Given the description of an element on the screen output the (x, y) to click on. 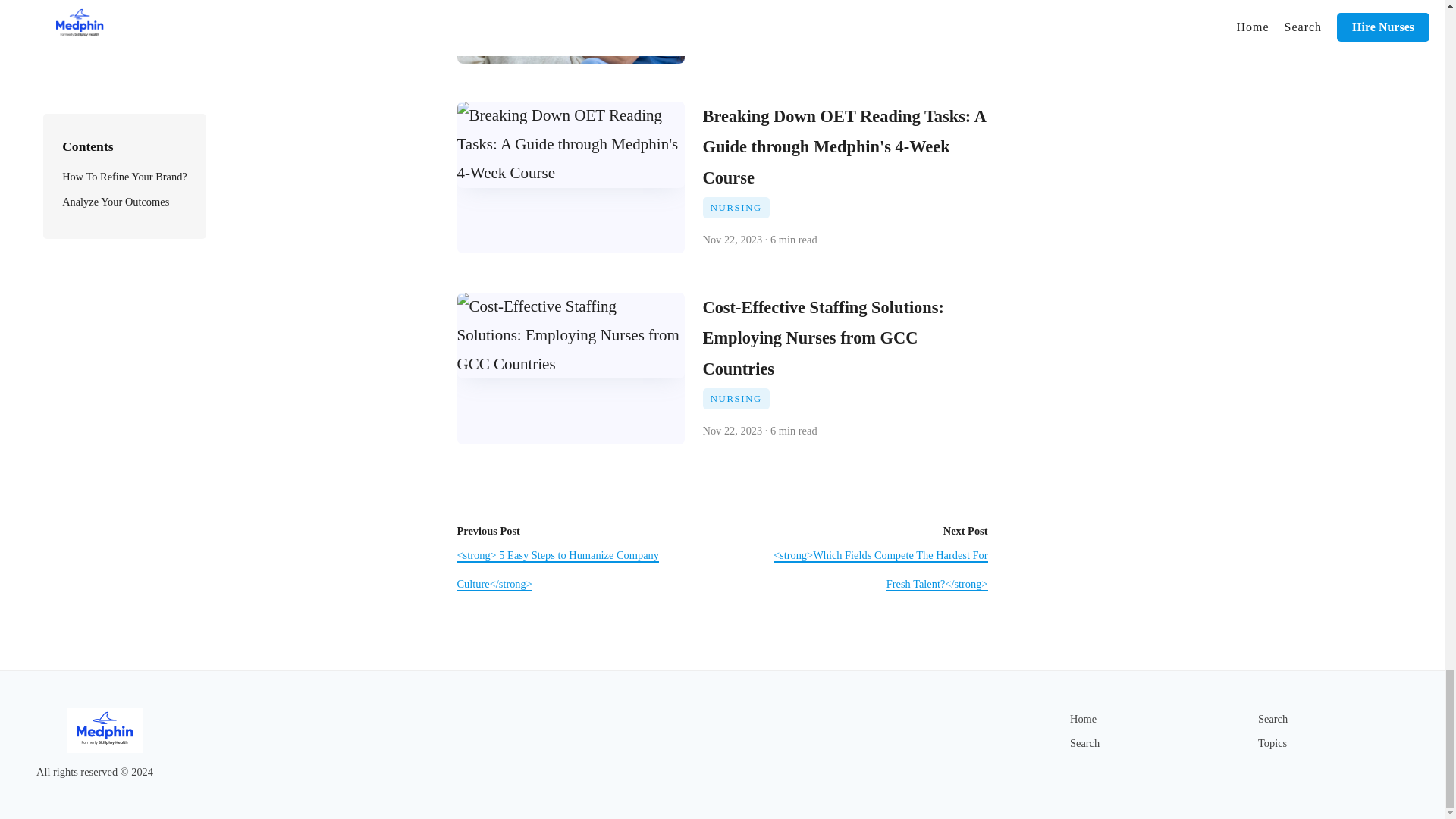
Search (1084, 743)
Topics (1272, 743)
Home (1083, 718)
Search (1272, 718)
